Given the description of an element on the screen output the (x, y) to click on. 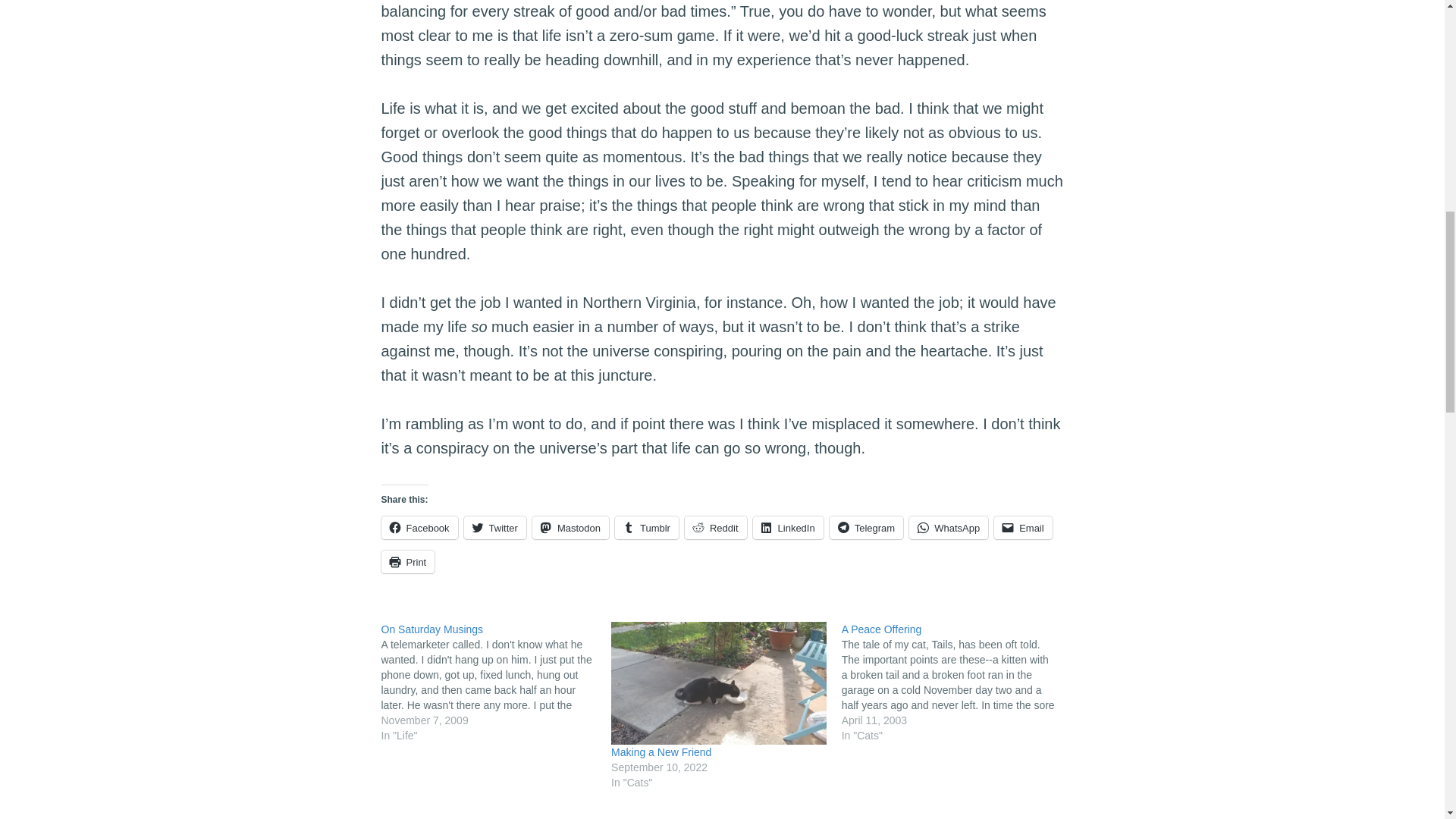
Click to share on LinkedIn (788, 527)
Click to share on Tumblr (646, 527)
Click to share on Facebook (418, 527)
Click to share on Twitter (494, 527)
On Saturday Musings (431, 629)
A Peace Offering (956, 681)
Click to share on Reddit (715, 527)
Click to share on Telegram (865, 527)
On Saturday Musings (495, 681)
Making a New Friend (719, 682)
Click to email a link to a friend (1023, 527)
Making a New Friend (661, 752)
Click to share on WhatsApp (948, 527)
A Peace Offering (881, 629)
Click to share on Mastodon (570, 527)
